Given the description of an element on the screen output the (x, y) to click on. 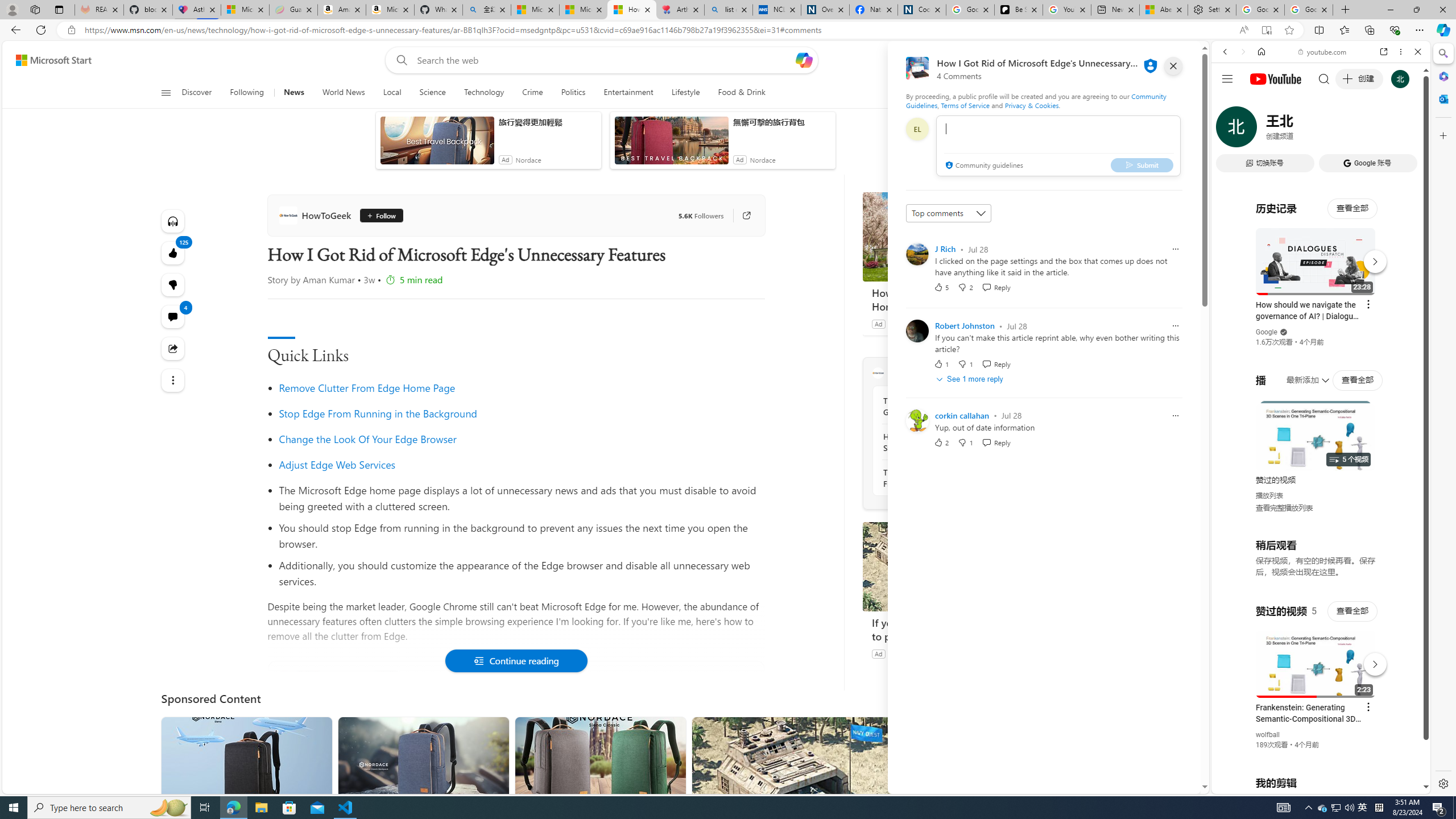
World News (343, 92)
VIDEOS (1300, 130)
Search Filter, IMAGES (1262, 129)
Address and search bar (658, 29)
comment-box (1058, 145)
Robert Johnston (964, 325)
Dislike (964, 441)
Remove Clutter From Edge Home Page (521, 387)
Music (1320, 309)
Change the Look Of Your Edge Browser (367, 438)
Skip to content (49, 59)
Favorites (1344, 29)
Adjust Edge Web Services (337, 464)
World News (343, 92)
list of asthma inhalers uk - Search (727, 9)
